Given the description of an element on the screen output the (x, y) to click on. 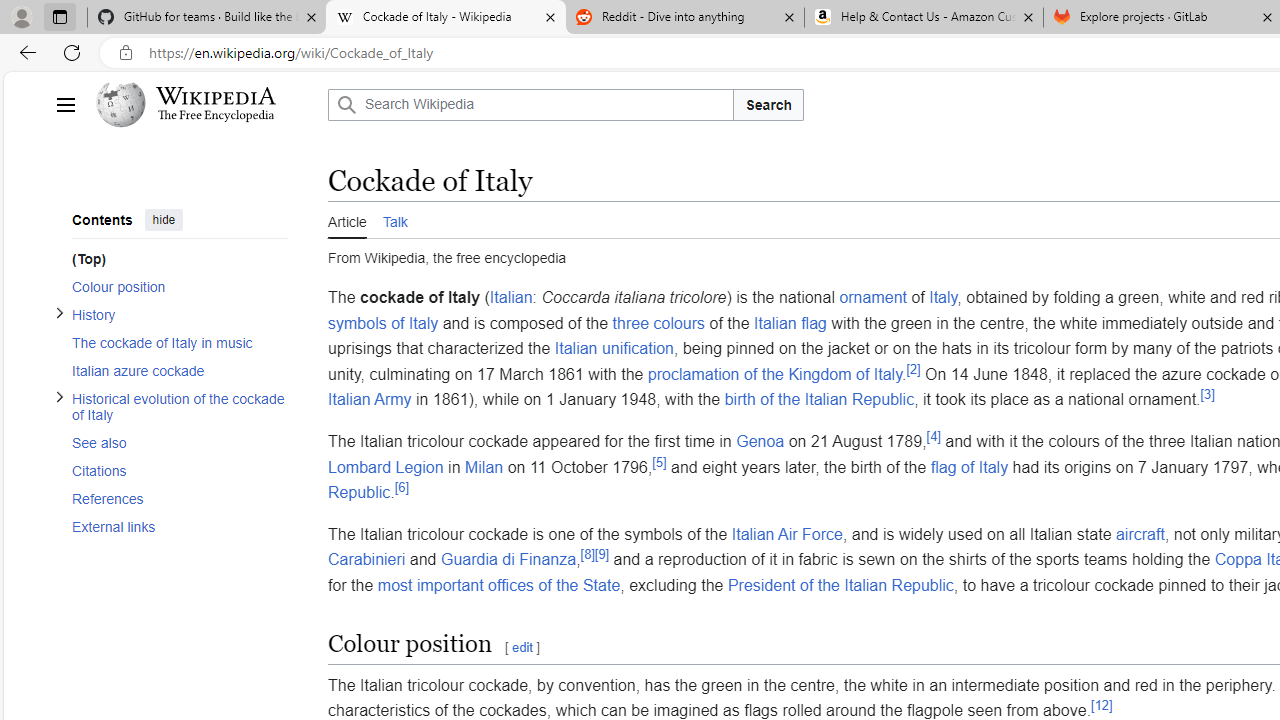
Toggle History subsection (59, 312)
[3] (1207, 395)
birth of the Italian Republic (819, 399)
Italian azure cockade (179, 370)
Search Wikipedia (530, 104)
Cockade of Italy - Wikipedia (445, 17)
Article (347, 219)
[12] (1101, 704)
[6] (401, 486)
Guardia di Finanza (508, 559)
(Top) (174, 258)
